Given the description of an element on the screen output the (x, y) to click on. 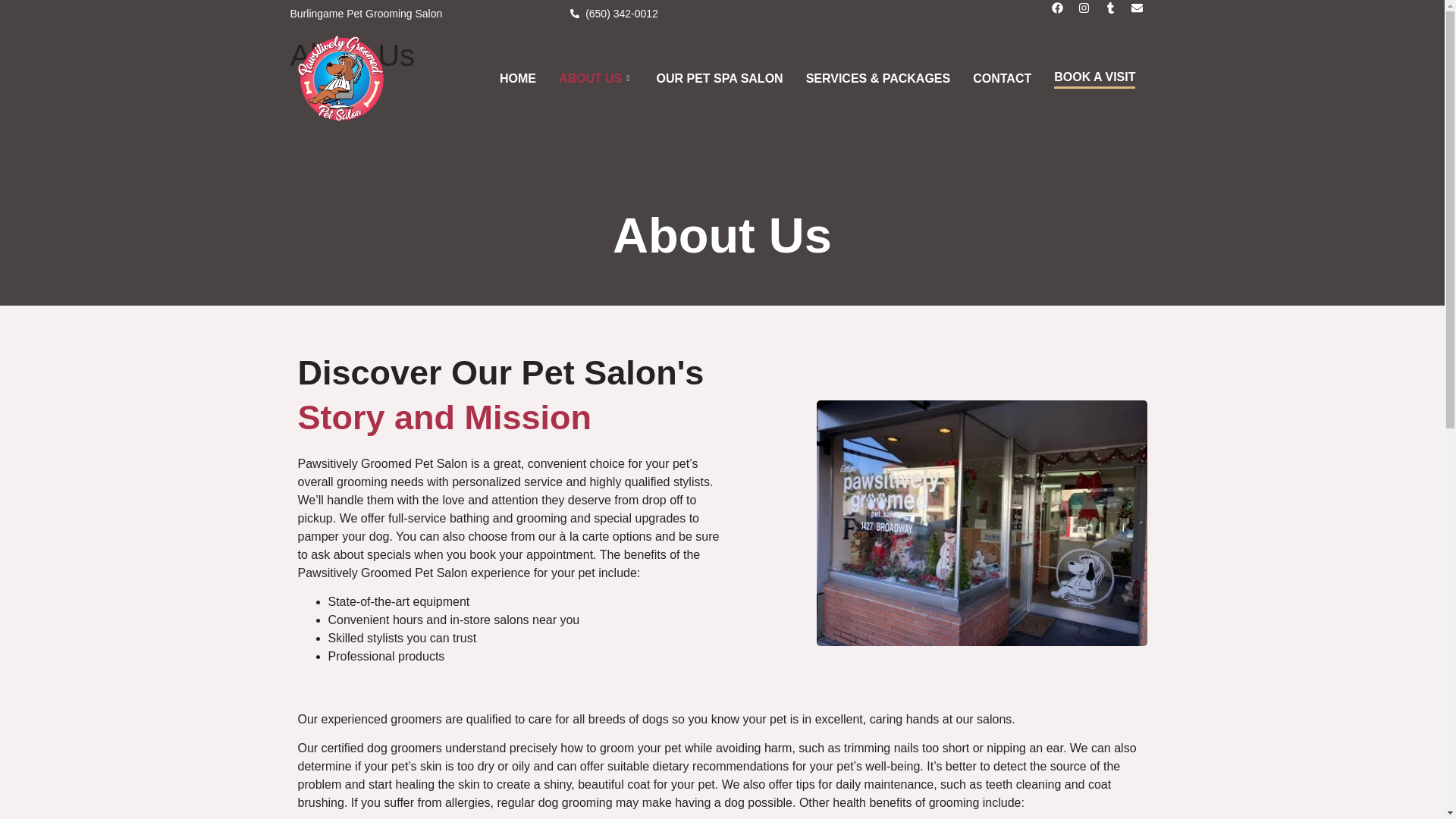
BOOK A VISIT (1094, 78)
CONTACT (1001, 78)
OUR PET SPA SALON (719, 78)
HOME (517, 78)
ABOUT US (596, 78)
